Given the description of an element on the screen output the (x, y) to click on. 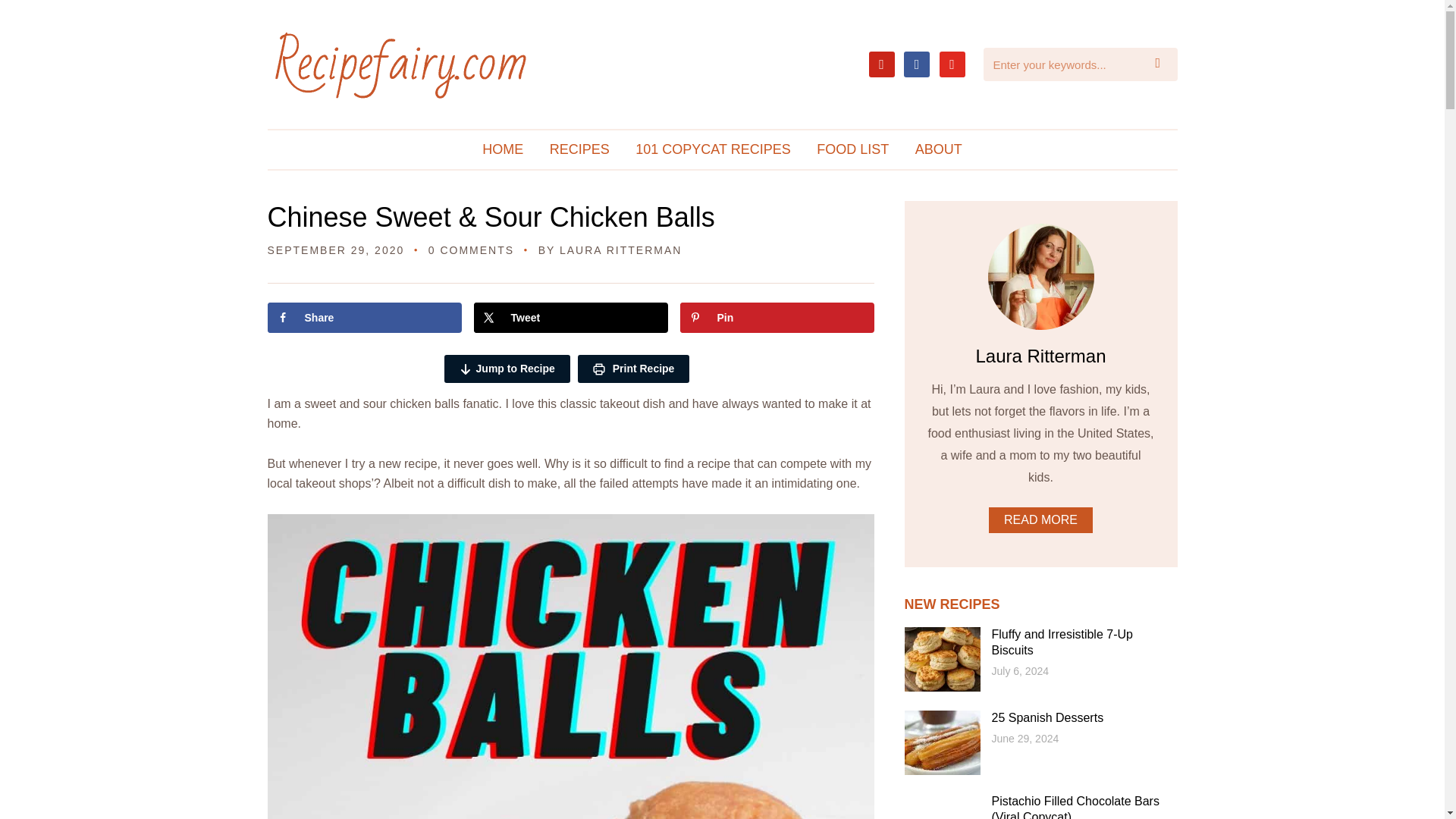
Facebook (917, 62)
pinterest (882, 62)
Posts by Laura Ritterman (620, 250)
Search (1161, 64)
Share on Facebook (363, 317)
facebook (917, 62)
Share on X (569, 317)
Default Label (882, 62)
Search (1161, 64)
Search (1161, 64)
FOOD LIST (852, 149)
RECIPES (579, 149)
youtube (951, 62)
Default Label (951, 62)
Save to Pinterest (776, 317)
